Given the description of an element on the screen output the (x, y) to click on. 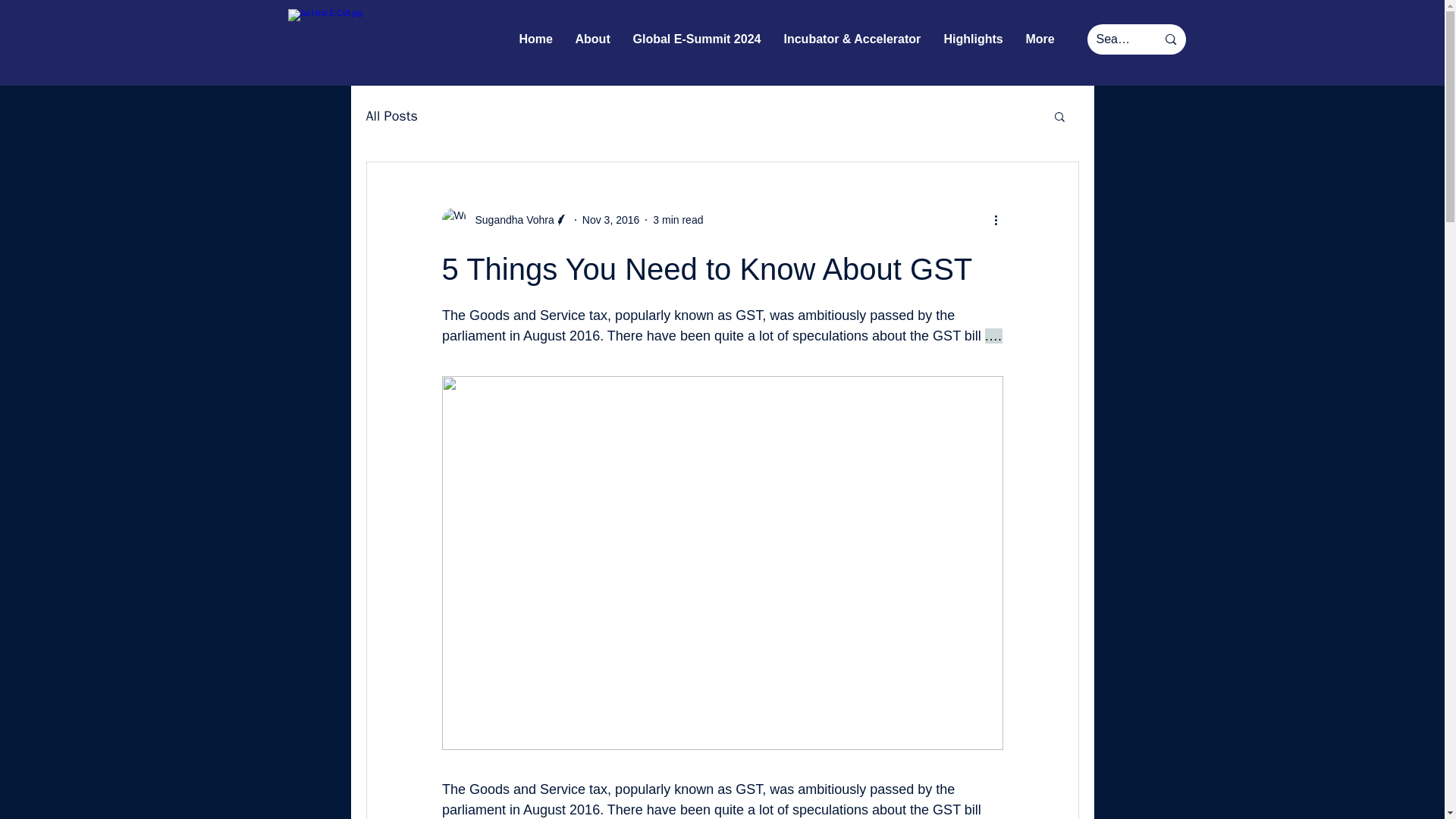
About (592, 39)
Home (536, 39)
3 min read (677, 219)
Sugandha Vohra (504, 219)
Global E-Summit 2024 (697, 39)
Sugandha Vohra (509, 220)
Nov 3, 2016 (611, 219)
All Posts (390, 116)
